Given the description of an element on the screen output the (x, y) to click on. 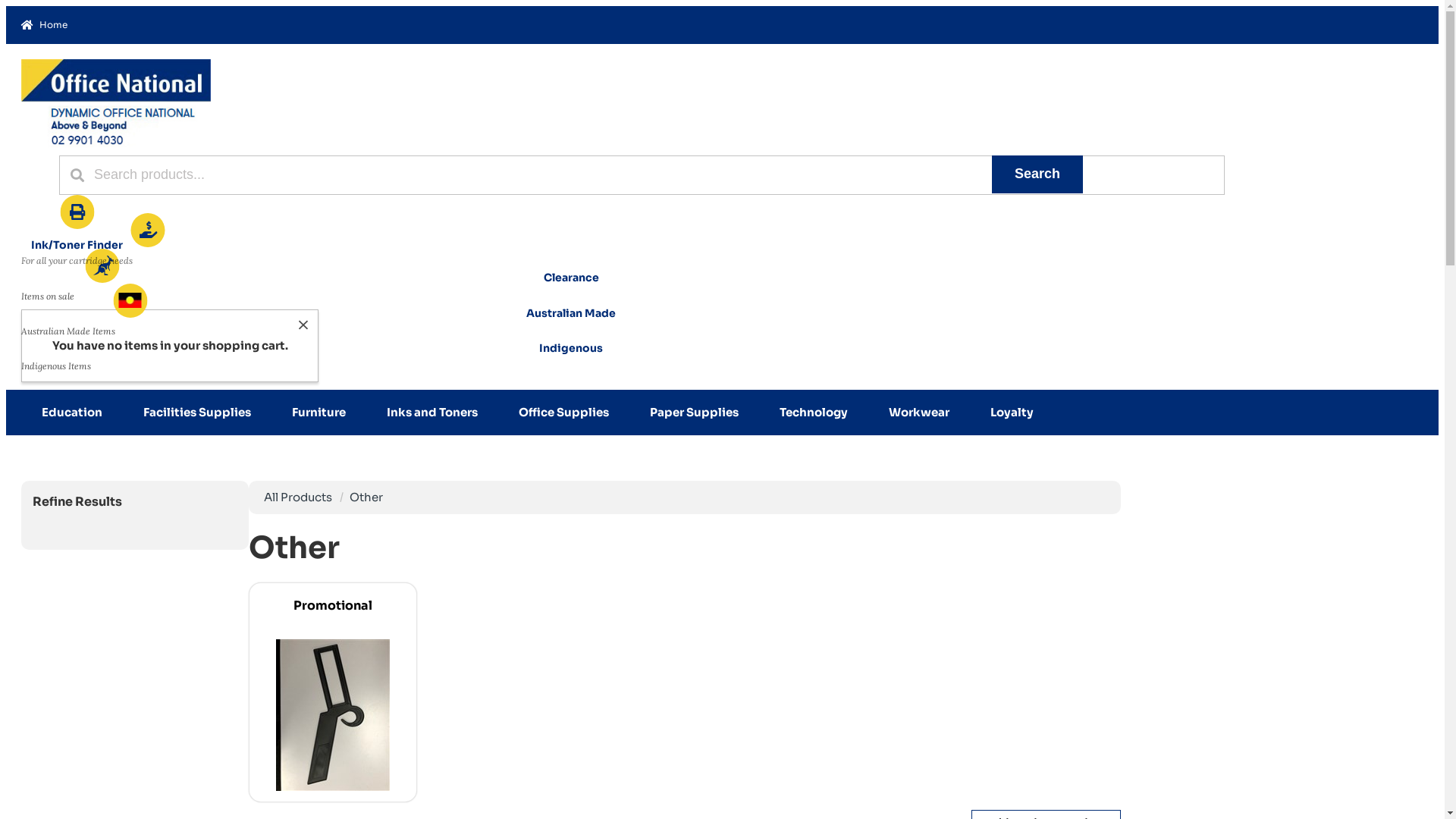
Office National Element type: hover (115, 145)
Promotional Element type: text (332, 693)
All Products Element type: text (297, 496)
Search Element type: text (1036, 174)
Loyalty Element type: text (1011, 412)
Inks and Toners Element type: text (432, 412)
Latest Catalogues Element type: text (565, 100)
Paper Supplies Element type: text (694, 412)
Office Supplies Element type: text (563, 412)
Indigenous
Indigenous Items Element type: text (570, 362)
Special Offers Element type: text (565, 62)
Workwear Element type: text (918, 412)
Favourites Element type: text (565, 252)
Australian Made
Australian Made Items Element type: text (570, 327)
Clearance
Items on sale Element type: text (570, 292)
Register Element type: text (565, 214)
Facilities Supplies Element type: text (196, 412)
Ink/Toner Finder
For all your cartridge needs Element type: text (76, 231)
-none- Element type: text (570, 290)
Login Element type: text (565, 176)
Sustainable Element type: text (570, 138)
Furniture Element type: text (318, 412)
Technology Element type: text (813, 412)
Home Element type: text (565, 24)
Education Element type: text (71, 412)
